Given the description of an element on the screen output the (x, y) to click on. 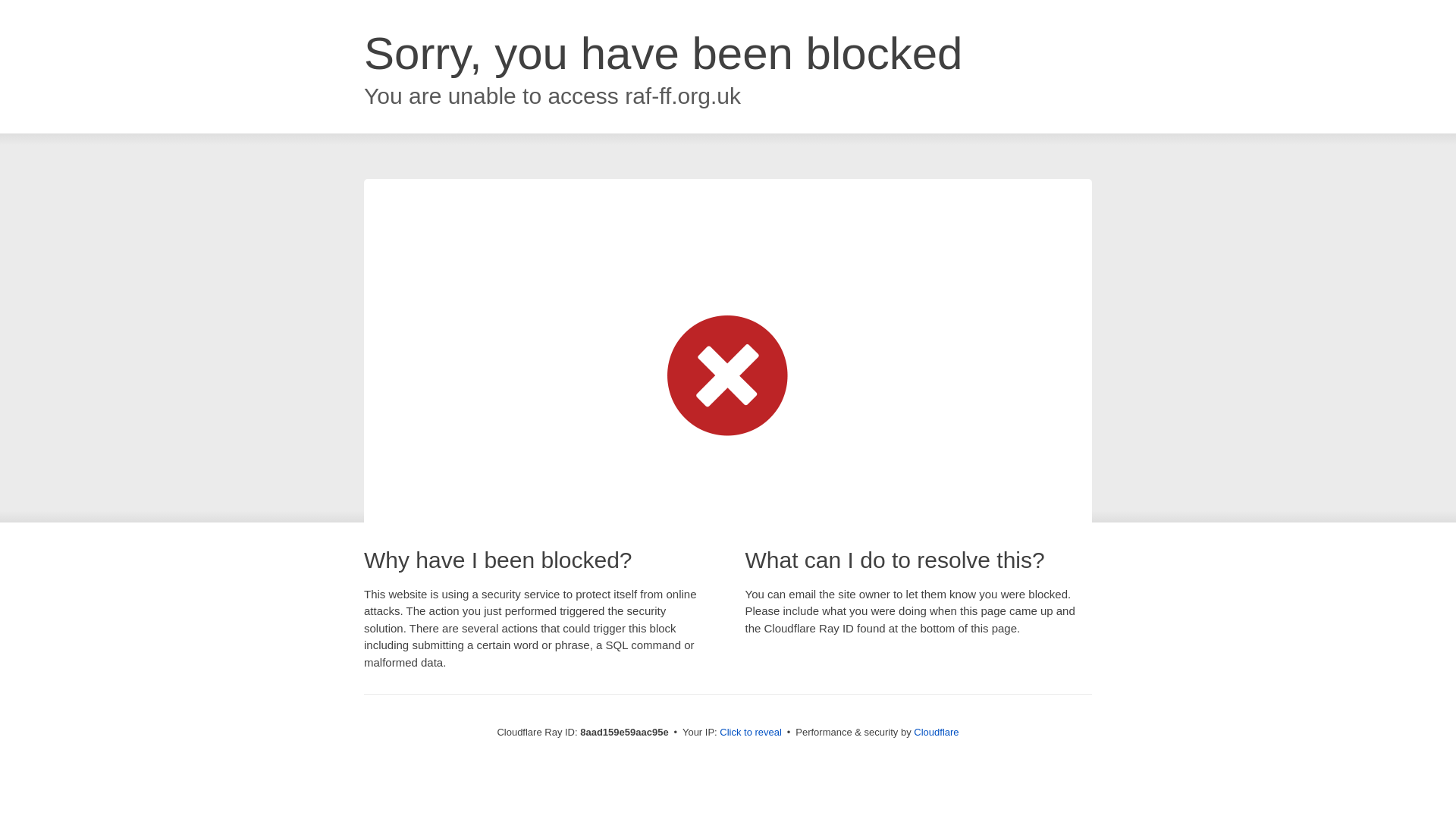
Click to reveal (750, 732)
Cloudflare (936, 731)
